Given the description of an element on the screen output the (x, y) to click on. 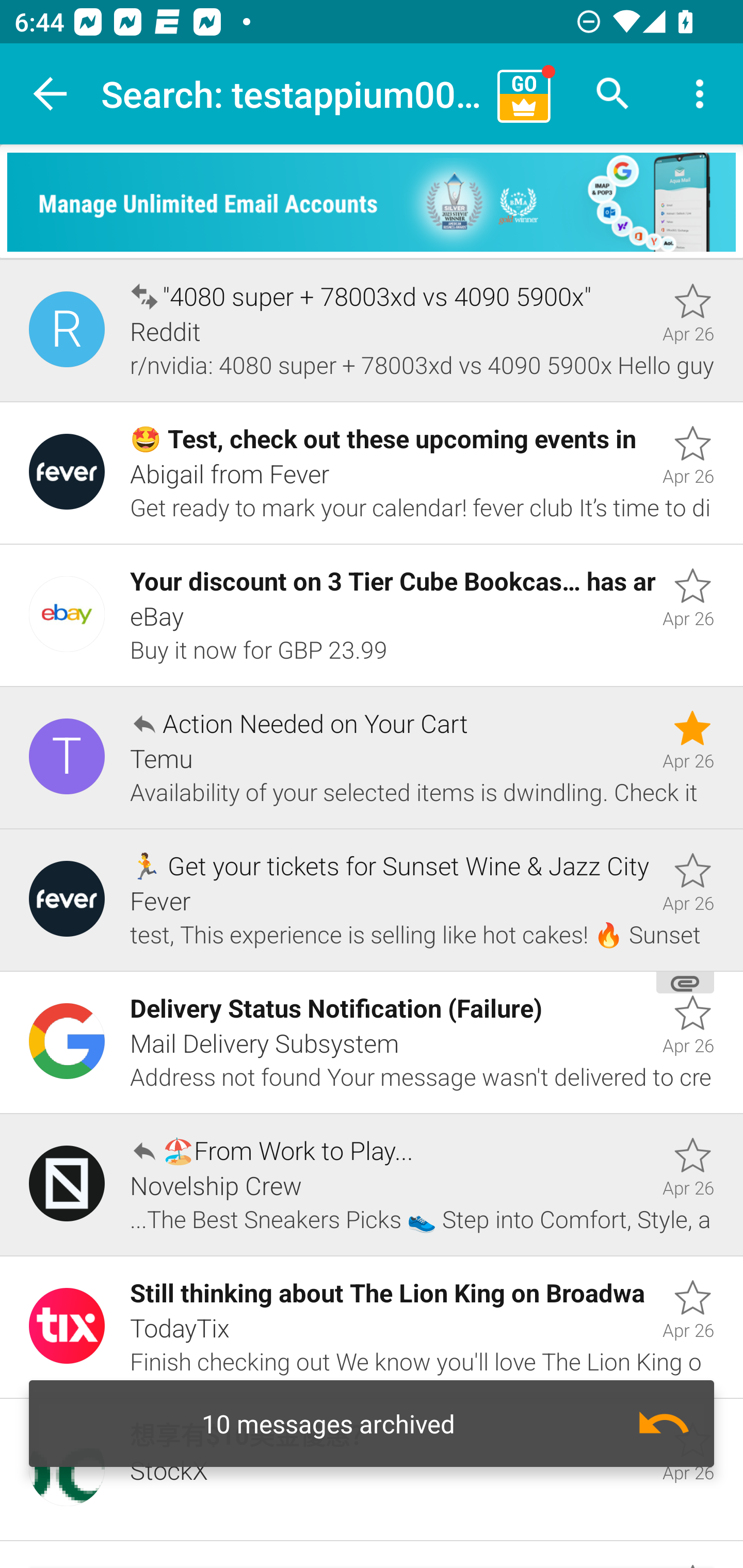
Navigate up (50, 93)
Search (612, 93)
More options (699, 93)
Undo 10 messages archived (371, 1423)
